Given the description of an element on the screen output the (x, y) to click on. 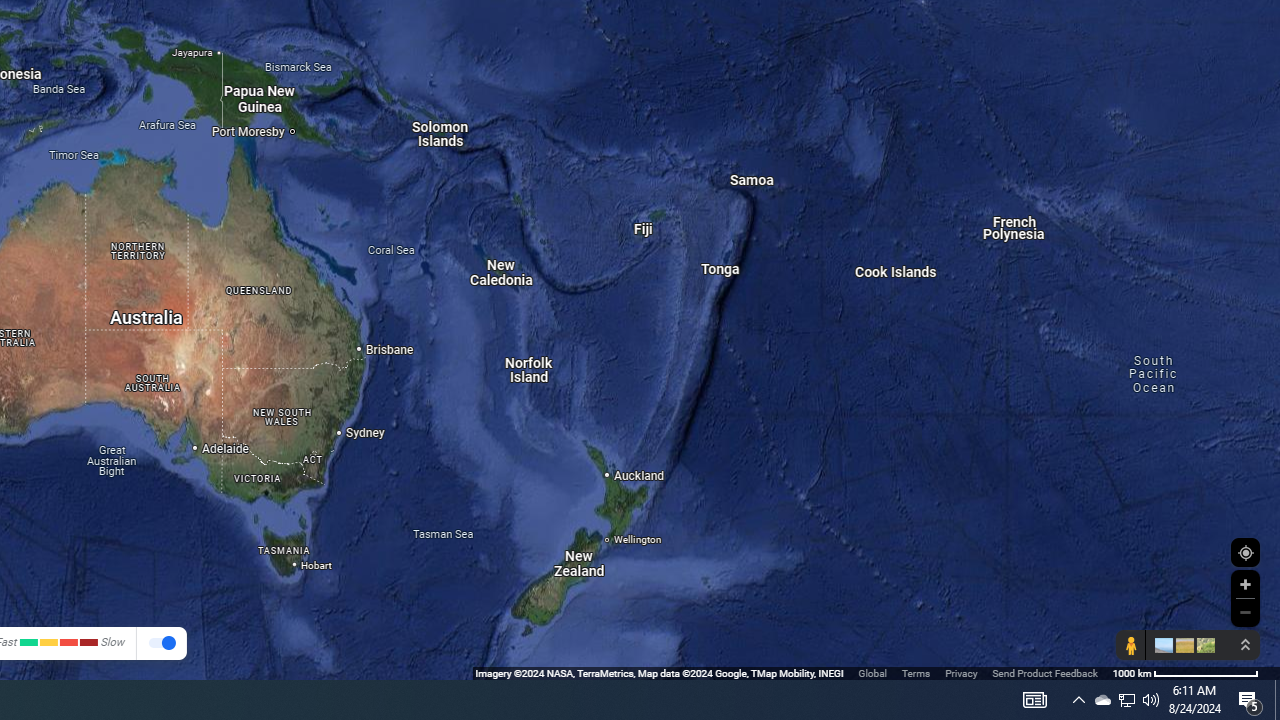
Zoom in (1245, 584)
Show imagery (1202, 645)
Show Street View coverage (1130, 645)
Send Product Feedback (1045, 672)
Global (872, 672)
Zoom out (1245, 612)
1000 km (1185, 672)
Show Your Location (1245, 552)
 Show traffic  (162, 643)
